Given the description of an element on the screen output the (x, y) to click on. 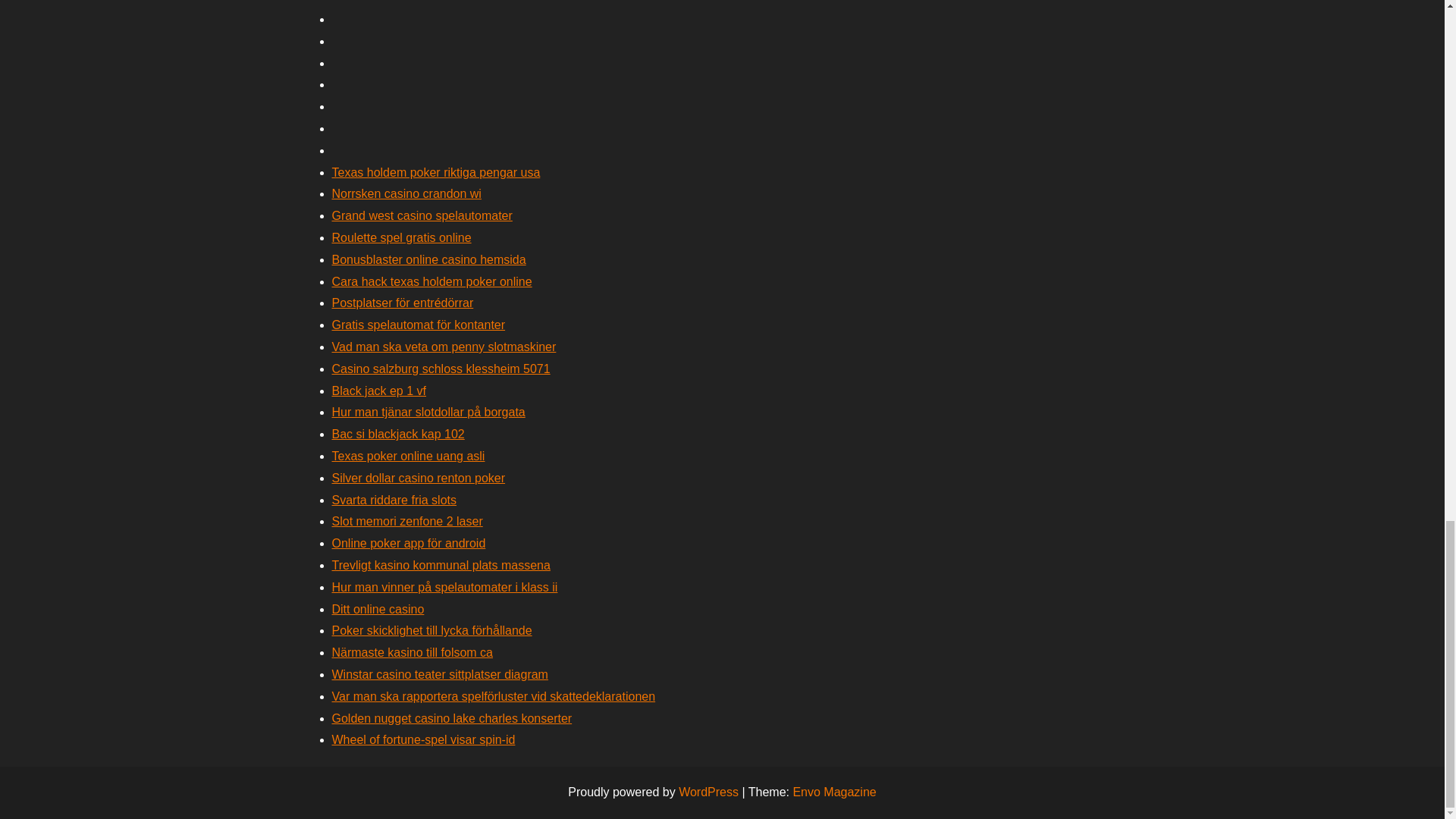
Envo Magazine (834, 791)
Svarta riddare fria slots (394, 499)
Texas poker online uang asli (407, 455)
Winstar casino teater sittplatser diagram (439, 674)
Texas holdem poker riktiga pengar usa (435, 172)
Roulette spel gratis online (401, 237)
Ditt online casino (378, 608)
WordPress (708, 791)
Bac si blackjack kap 102 (397, 433)
Norrsken casino crandon wi (406, 193)
